Given the description of an element on the screen output the (x, y) to click on. 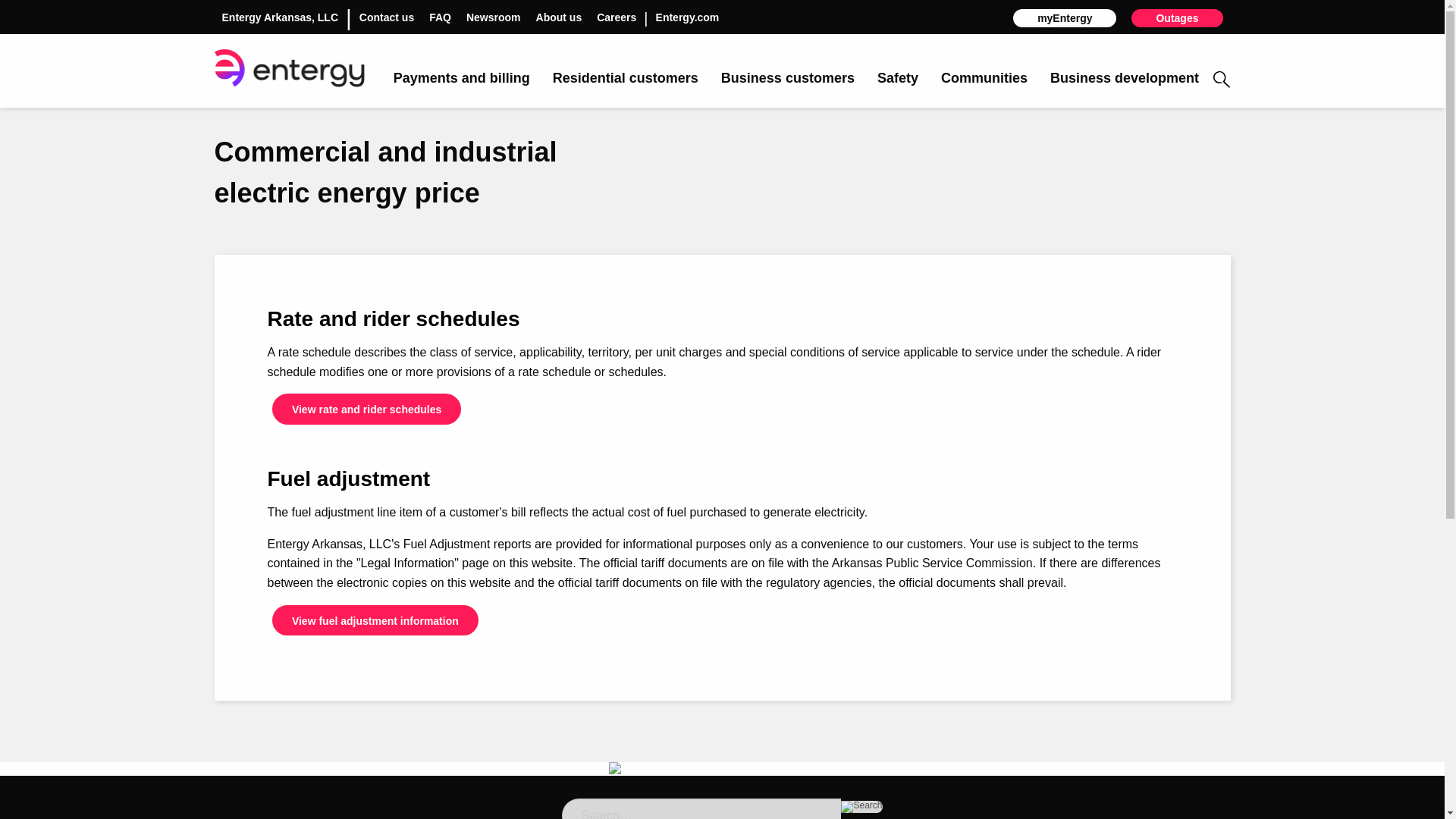
Newsroom (493, 17)
Entergy Arkansas, LLC (279, 17)
Contact us (386, 17)
Payments and billing (461, 79)
myEntergy (1064, 18)
Entergy.com (687, 17)
FAQ (440, 17)
Careers (616, 17)
Outages (1177, 18)
About us (558, 17)
